Given the description of an element on the screen output the (x, y) to click on. 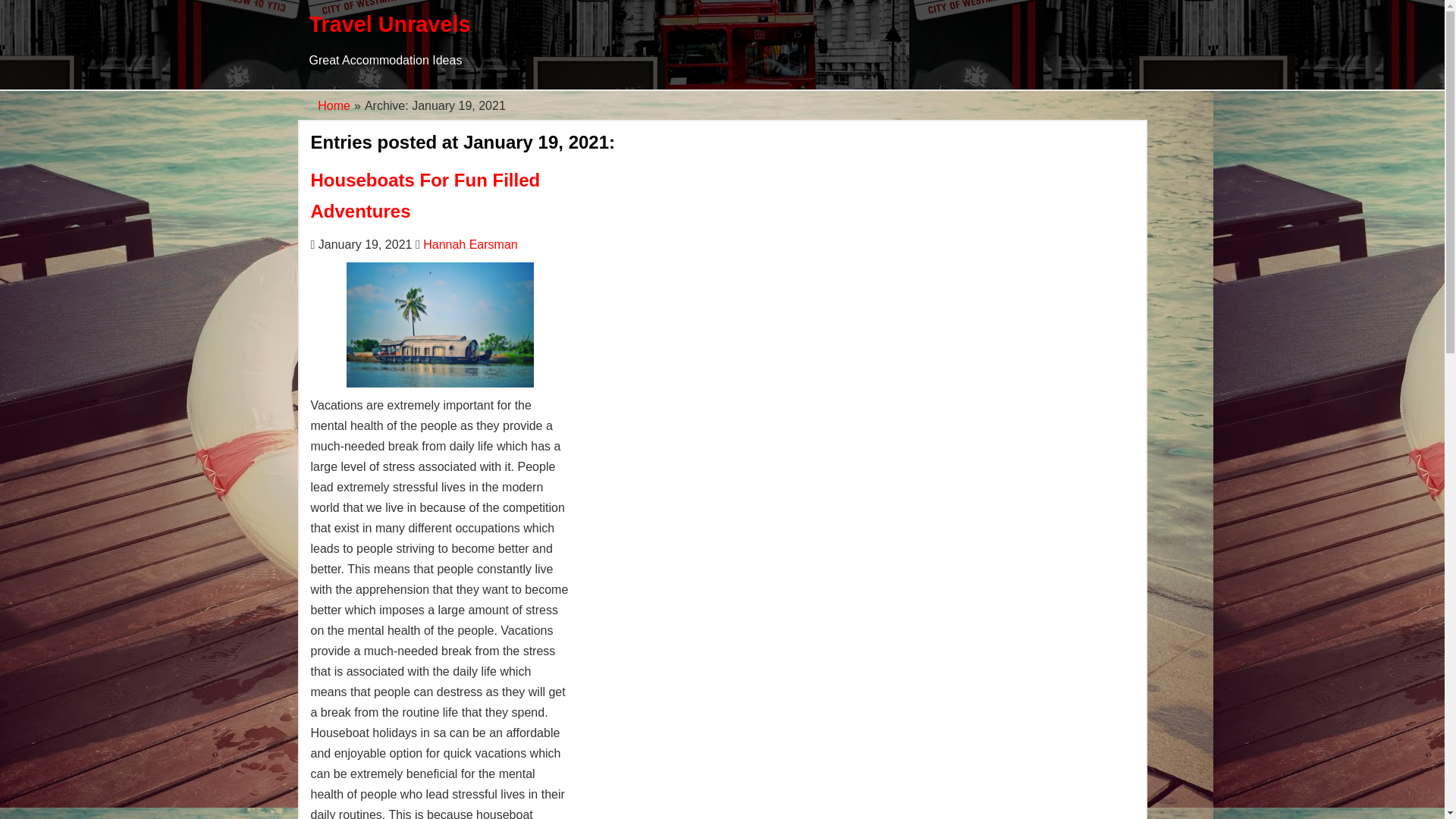
houseboat holidays (440, 324)
Home (333, 105)
Travel Unravels (389, 24)
Posts by Hannah Earsman (470, 244)
Hannah Earsman (470, 244)
Travel Unravels (389, 24)
Houseboats For Fun Filled Adventures (425, 195)
